Given the description of an element on the screen output the (x, y) to click on. 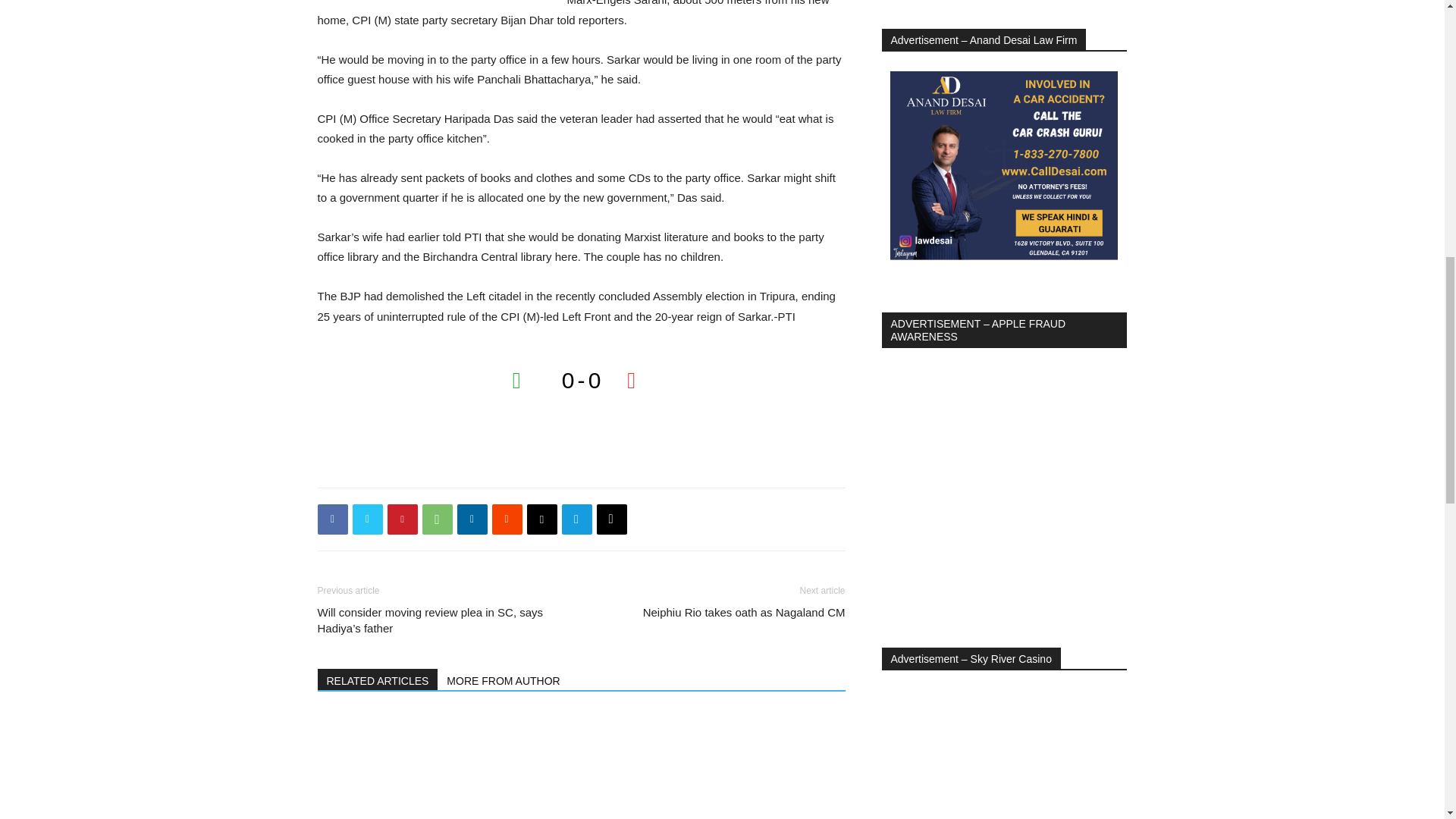
Telegram (575, 519)
Twitter (366, 519)
Email (540, 519)
Facebook (332, 519)
ReddIt (506, 519)
Linkedin (471, 519)
Copy URL (610, 519)
Pinterest (401, 519)
WhatsApp (436, 519)
